Given the description of an element on the screen output the (x, y) to click on. 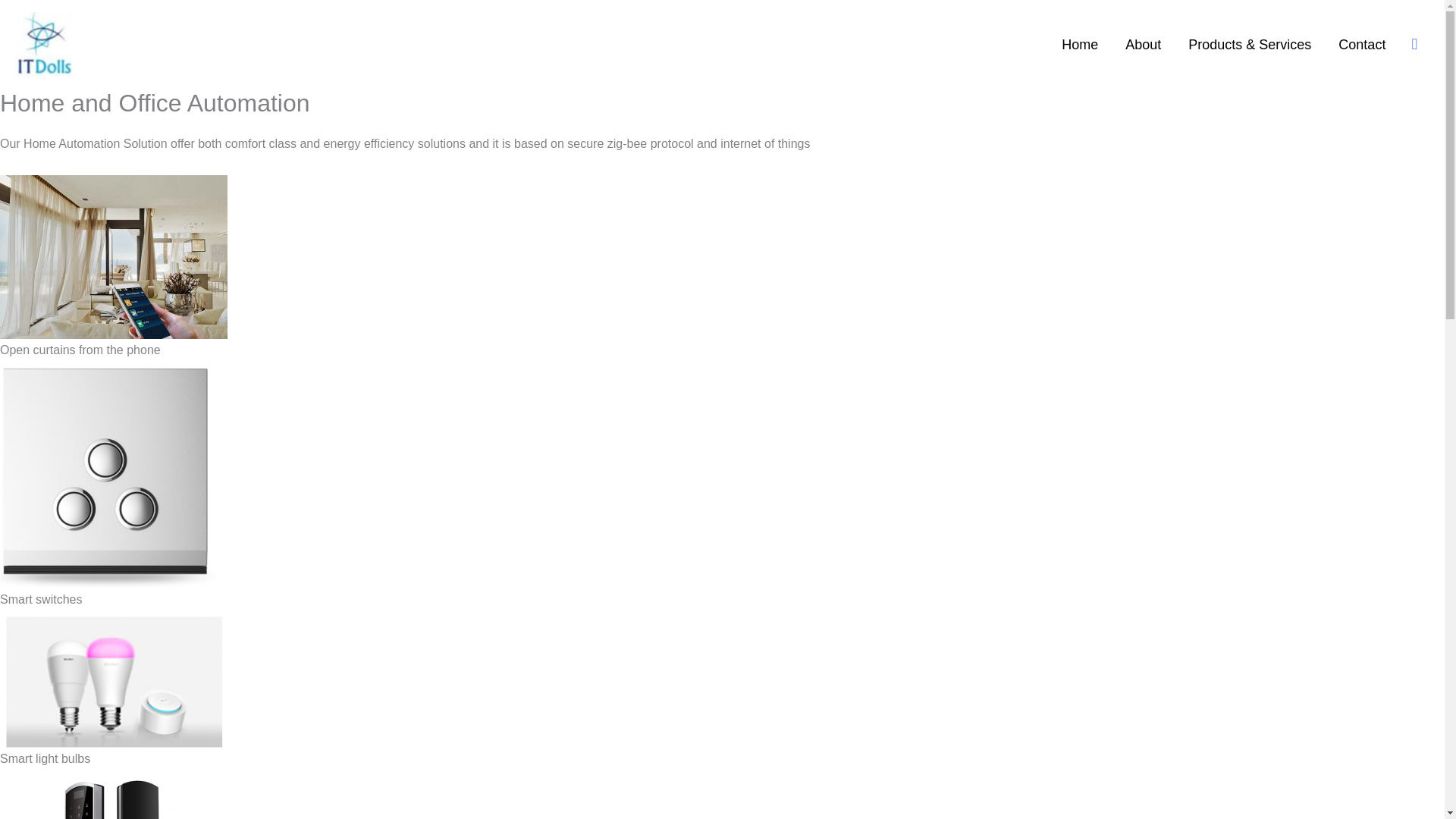
Search (18, 17)
